Given the description of an element on the screen output the (x, y) to click on. 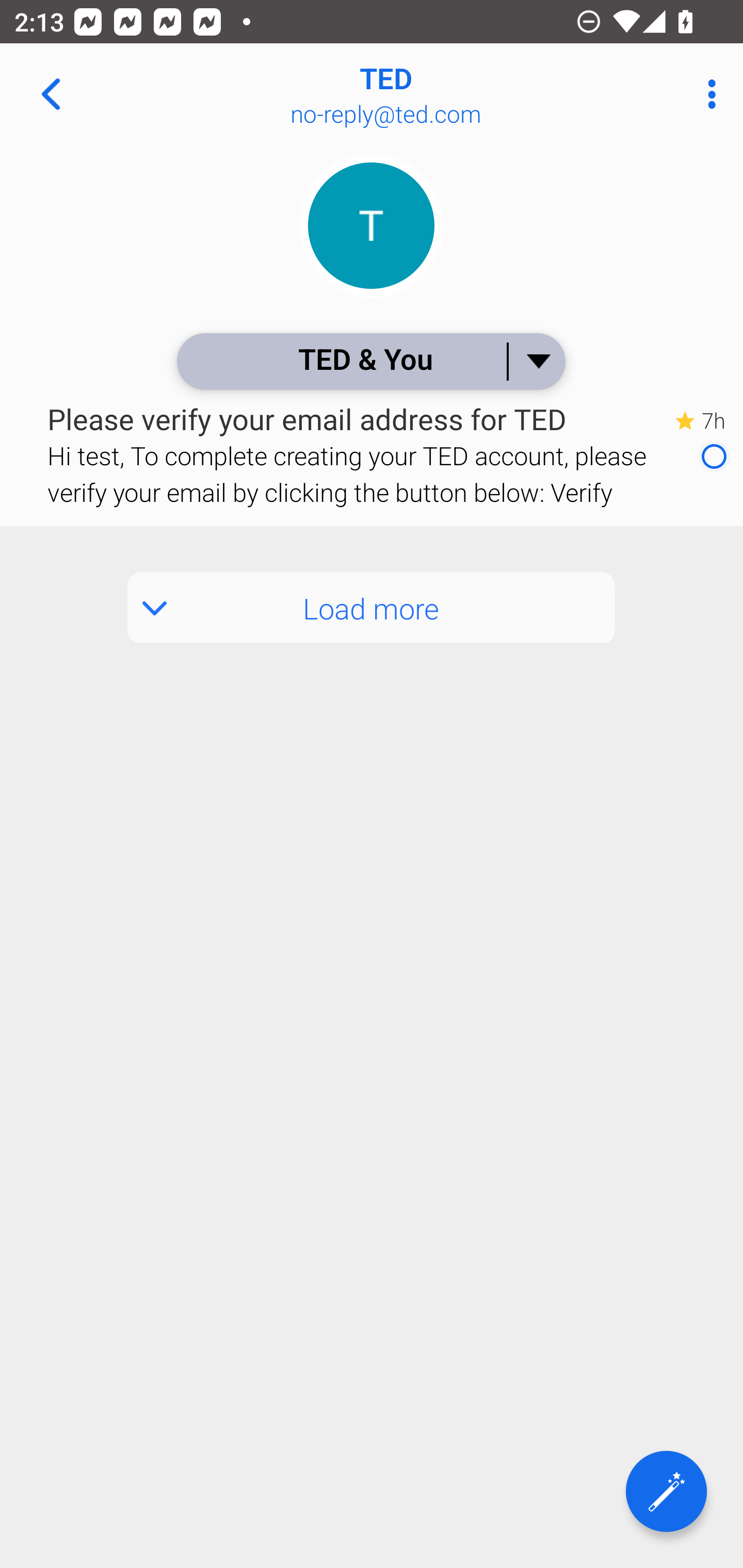
Navigate up (50, 93)
TED no-reply@ted.com (436, 93)
More Options (706, 93)
TED & You (370, 361)
Load more (371, 607)
